Given the description of an element on the screen output the (x, y) to click on. 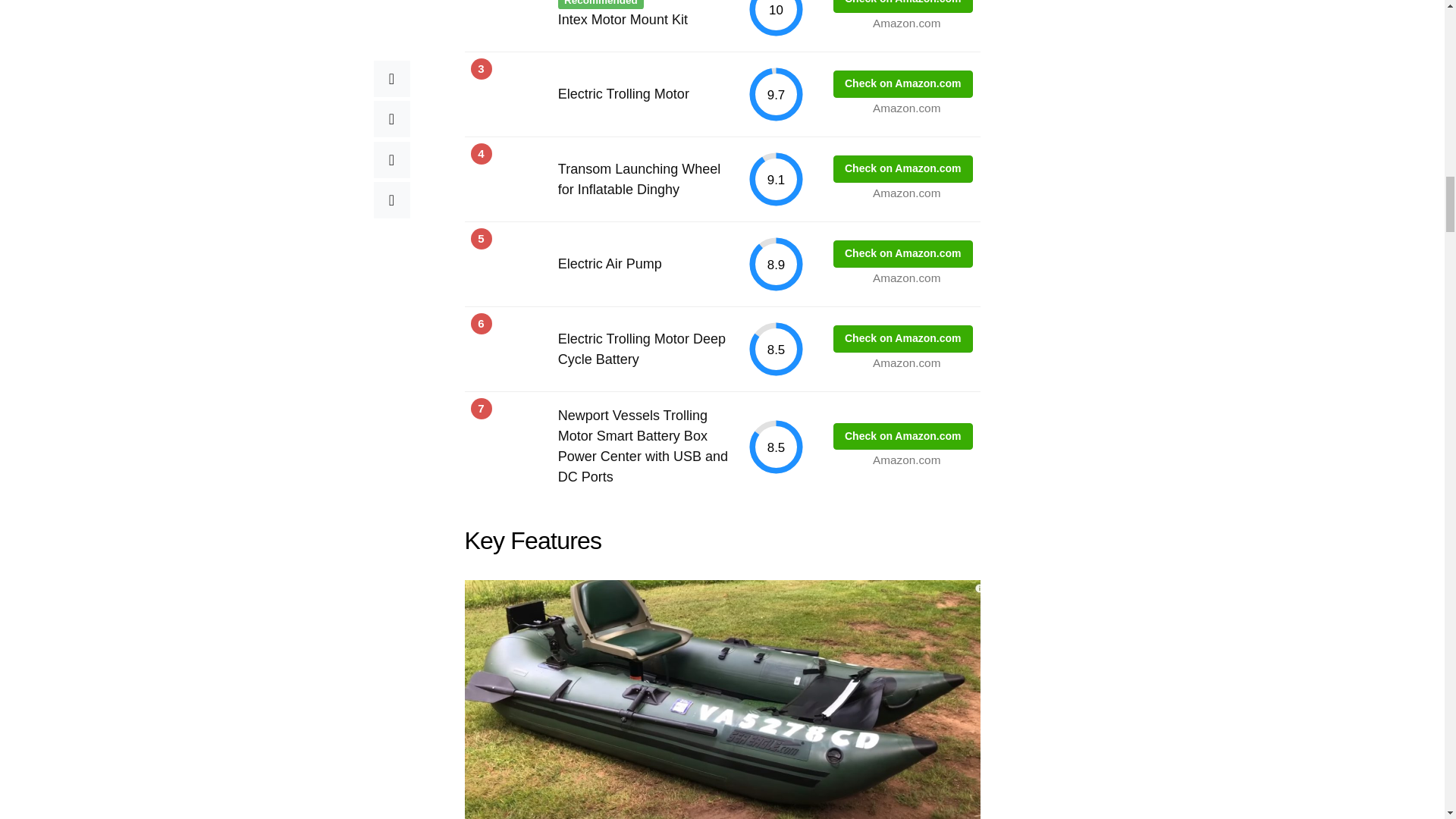
9.1 (776, 179)
8.9 (776, 263)
10 (776, 18)
8.5 (776, 349)
8.5 (776, 446)
9.7 (776, 94)
